Given the description of an element on the screen output the (x, y) to click on. 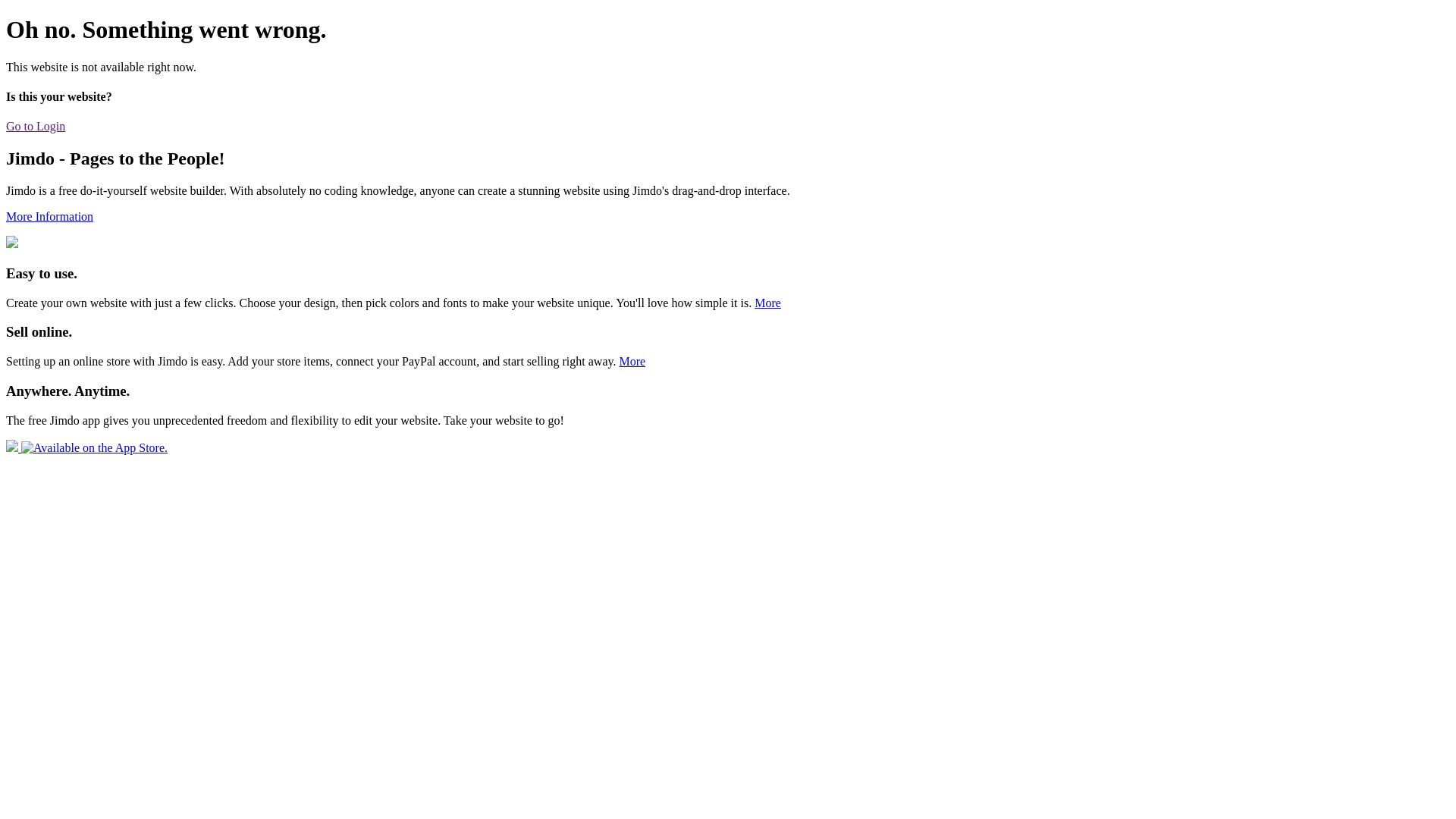
Available on the App Store. Element type: hover (86, 447)
More Element type: text (767, 302)
More Information Element type: text (49, 216)
Go to Login Element type: text (35, 125)
More Element type: text (631, 360)
